Given the description of an element on the screen output the (x, y) to click on. 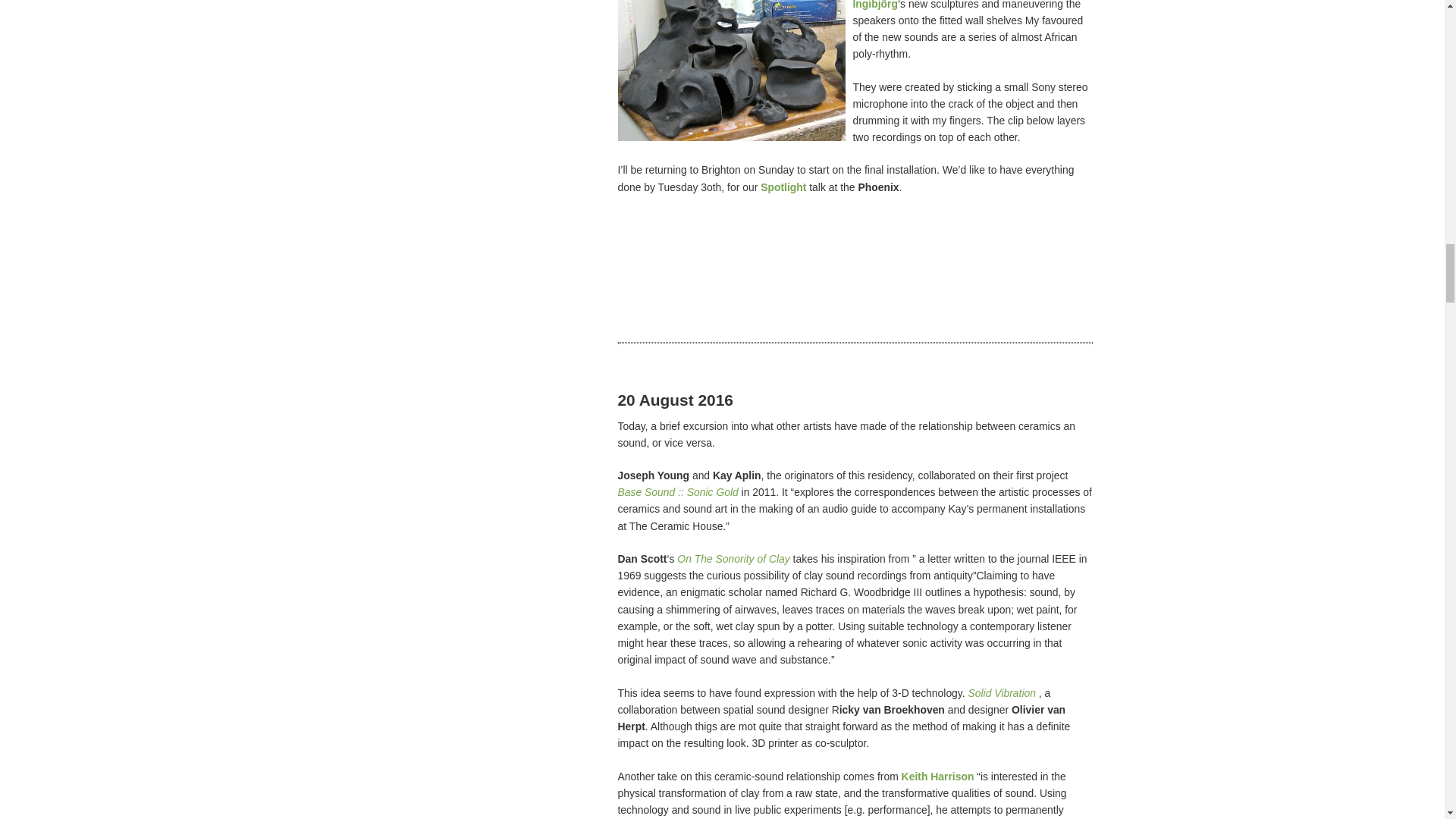
Spotlight (783, 186)
Base Sound :: Sonic Gold (677, 491)
On The Sonority of Clay (733, 558)
Solid Vibration (1001, 693)
Keith Harrison (937, 776)
